Given the description of an element on the screen output the (x, y) to click on. 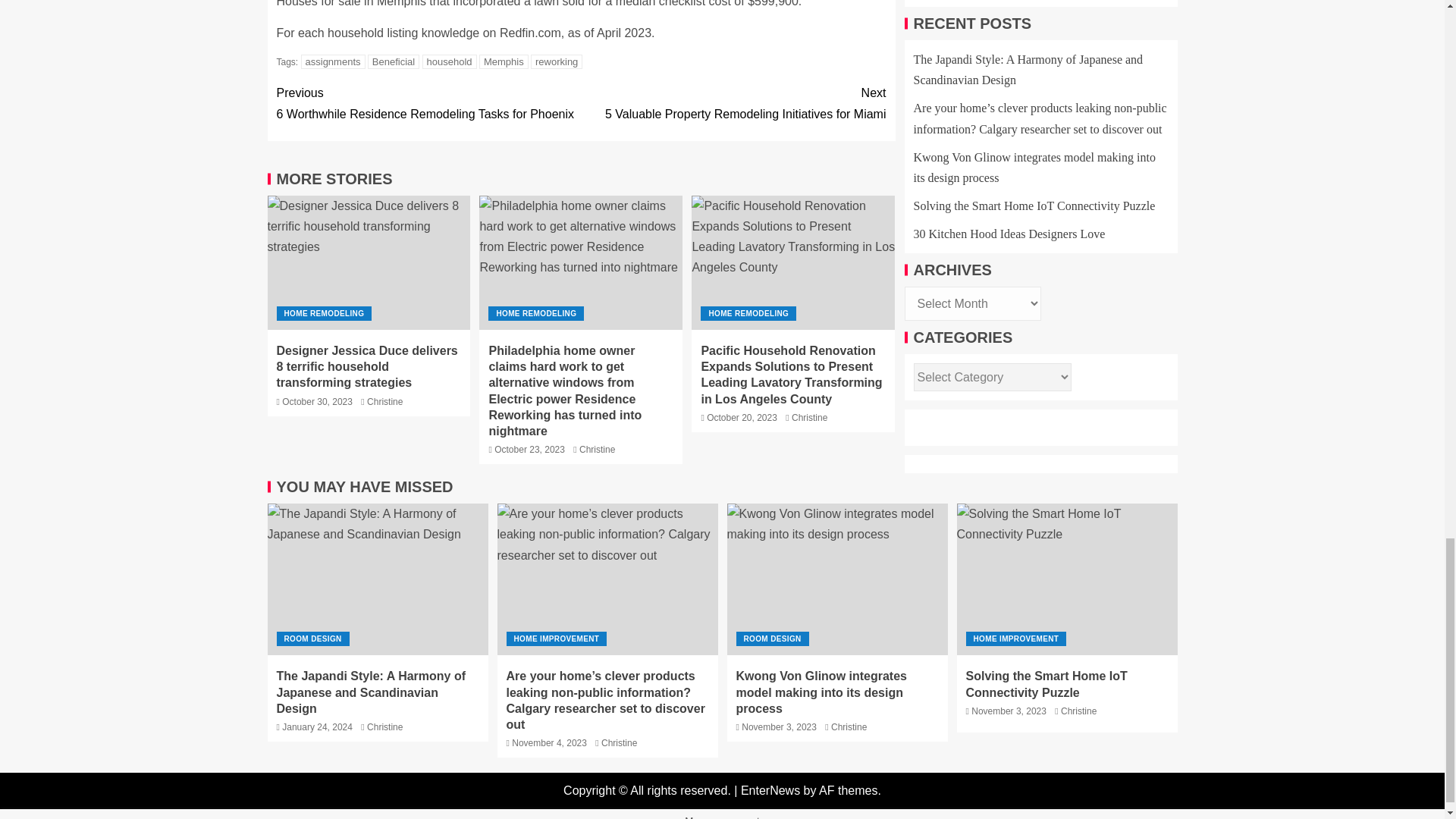
assignments (333, 61)
household (449, 61)
HOME REMODELING (732, 102)
reworking (535, 313)
Memphis (556, 61)
HOME REMODELING (503, 61)
Christine (323, 313)
